Given the description of an element on the screen output the (x, y) to click on. 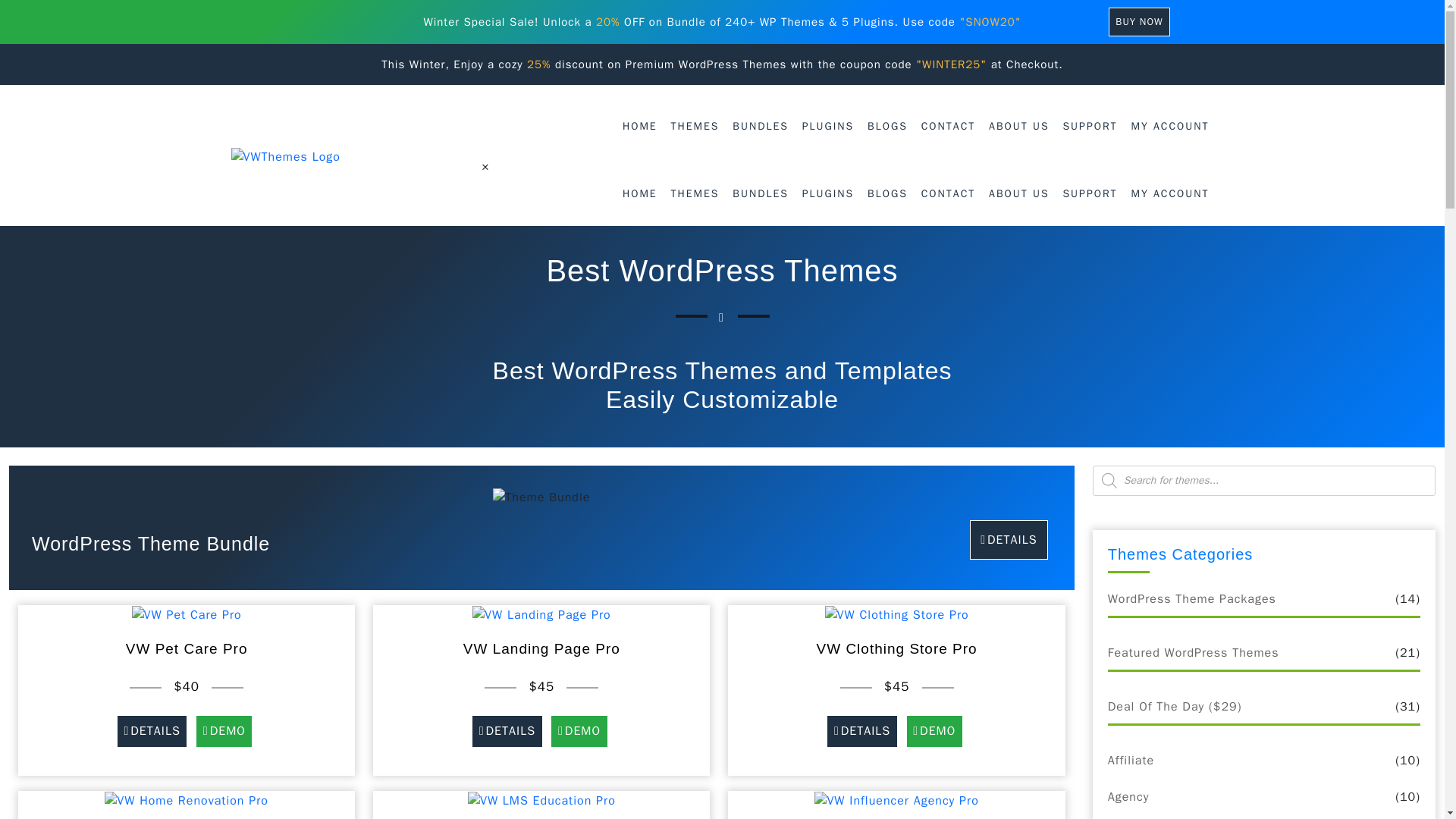
BUNDLES (760, 193)
MY ACCOUNT (1168, 125)
VW Pet Care Pro (186, 615)
WordPress Theme Bundle (150, 543)
HOME (639, 193)
Influencer Agency WordPress Theme (895, 799)
PLUGINS (828, 193)
ABOUT US (1019, 193)
Theme Bundle (541, 497)
Clothing Store WordPress Theme (897, 613)
BLOGS (887, 193)
THEMES (694, 193)
VW Landing Page Pro (541, 615)
DEMO (223, 730)
THEMES (694, 125)
